Given the description of an element on the screen output the (x, y) to click on. 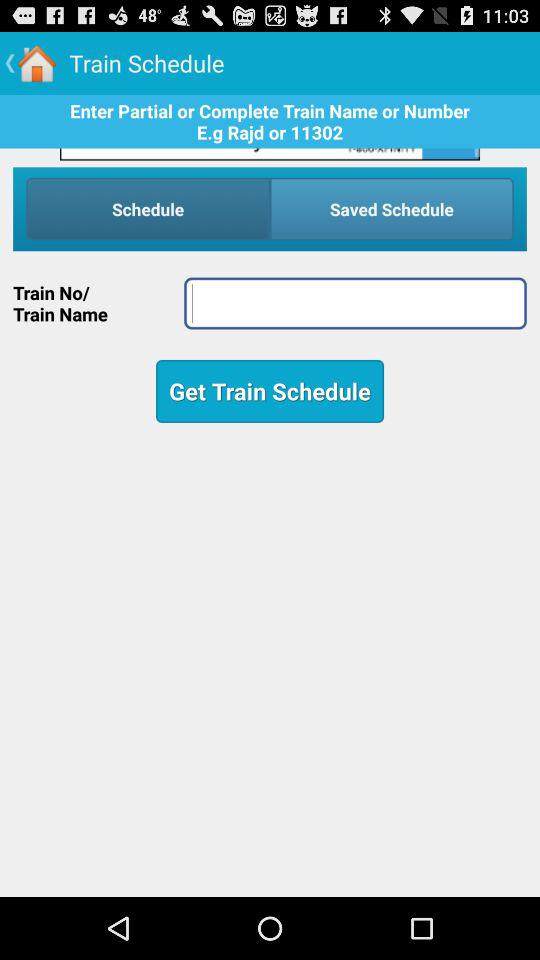
text 's box (355, 303)
